Given the description of an element on the screen output the (x, y) to click on. 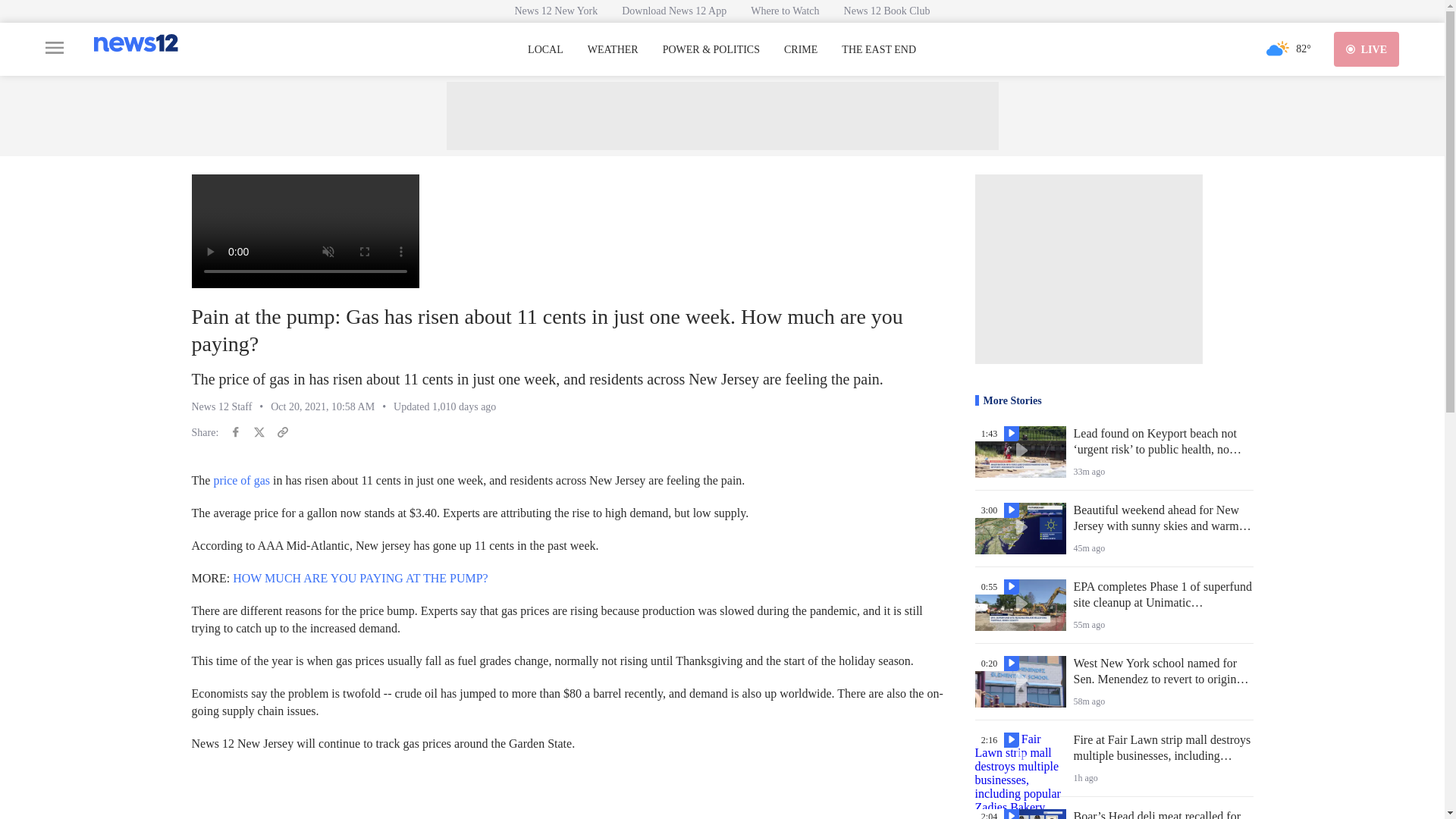
WEATHER (613, 49)
News 12 New York (556, 11)
News 12 Book Club (886, 11)
LOCAL (545, 49)
LIVE (1366, 48)
Partly Cloudy (1277, 48)
THE EAST END (878, 49)
Download News 12 App (673, 11)
CRIME (800, 49)
Where to Watch (784, 11)
